Given the description of an element on the screen output the (x, y) to click on. 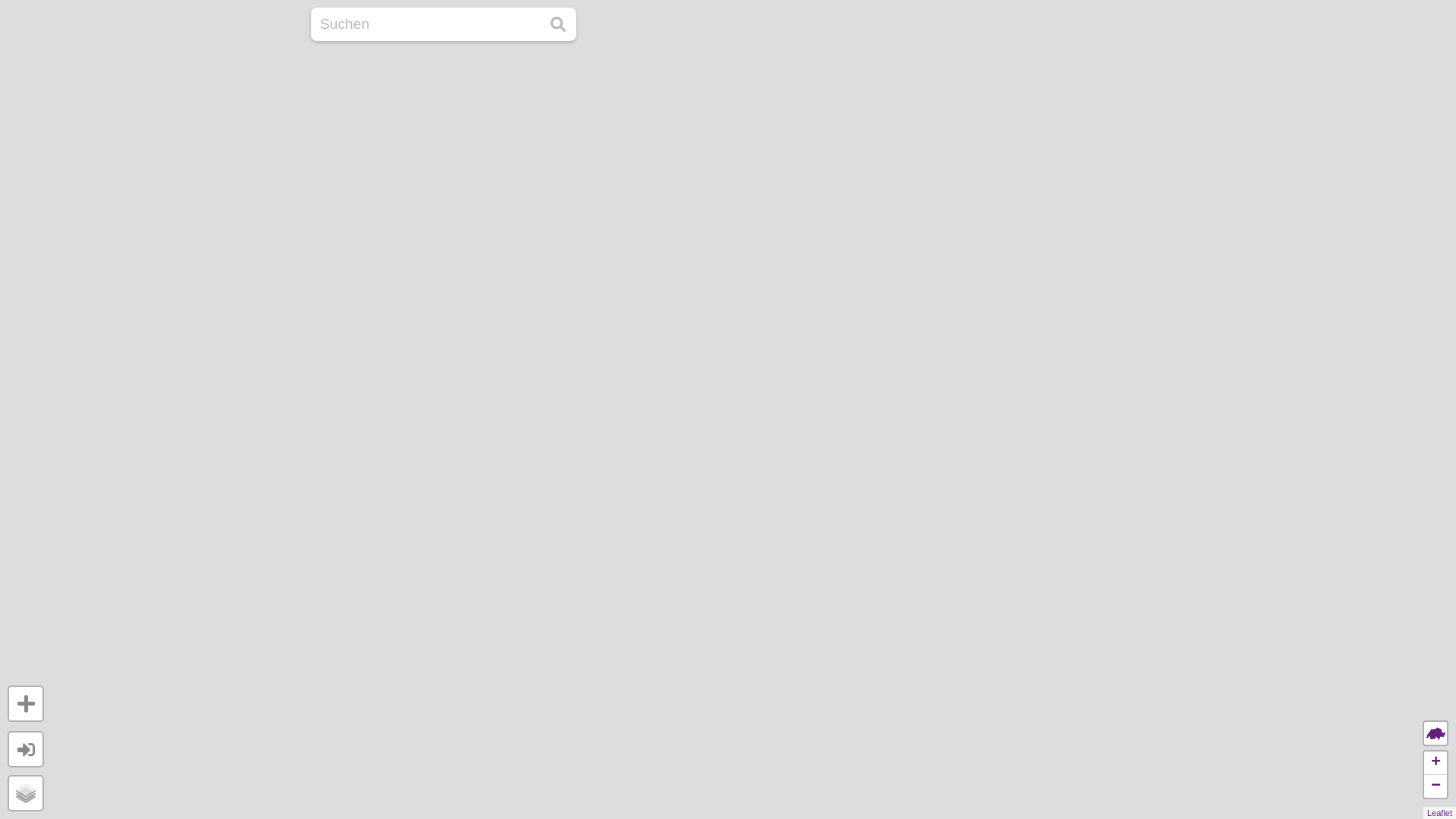
Leaflet Element type: text (1439, 812)
Layers Element type: hover (25, 792)
+ Element type: text (1435, 762)
